Given the description of an element on the screen output the (x, y) to click on. 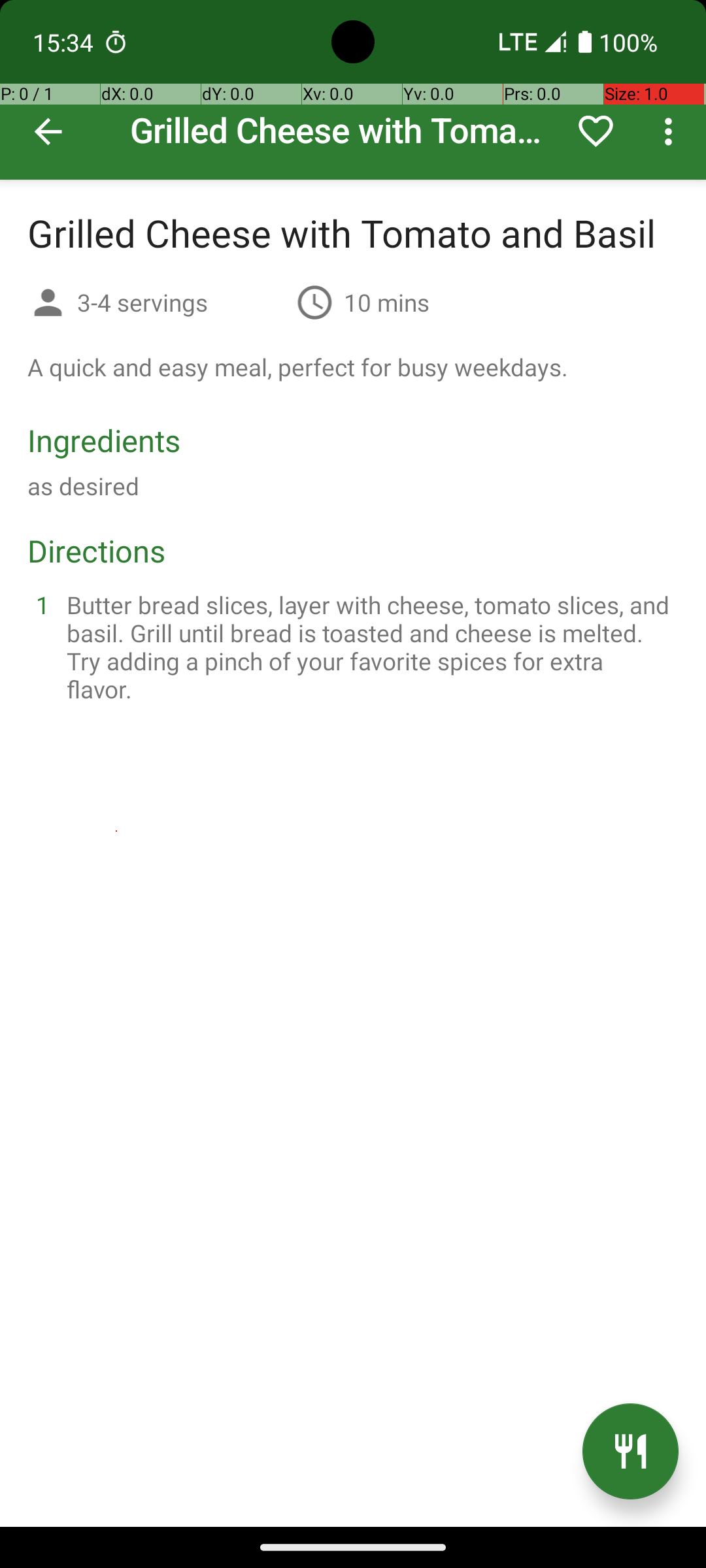
Grilled Cheese with Tomato and Basil Element type: android.widget.FrameLayout (353, 89)
as desired Element type: android.widget.TextView (83, 485)
Butter bread slices, layer with cheese, tomato slices, and basil. Grill until bread is toasted and cheese is melted. Try adding a pinch of your favorite spices for extra flavor. Element type: android.widget.TextView (368, 646)
